Given the description of an element on the screen output the (x, y) to click on. 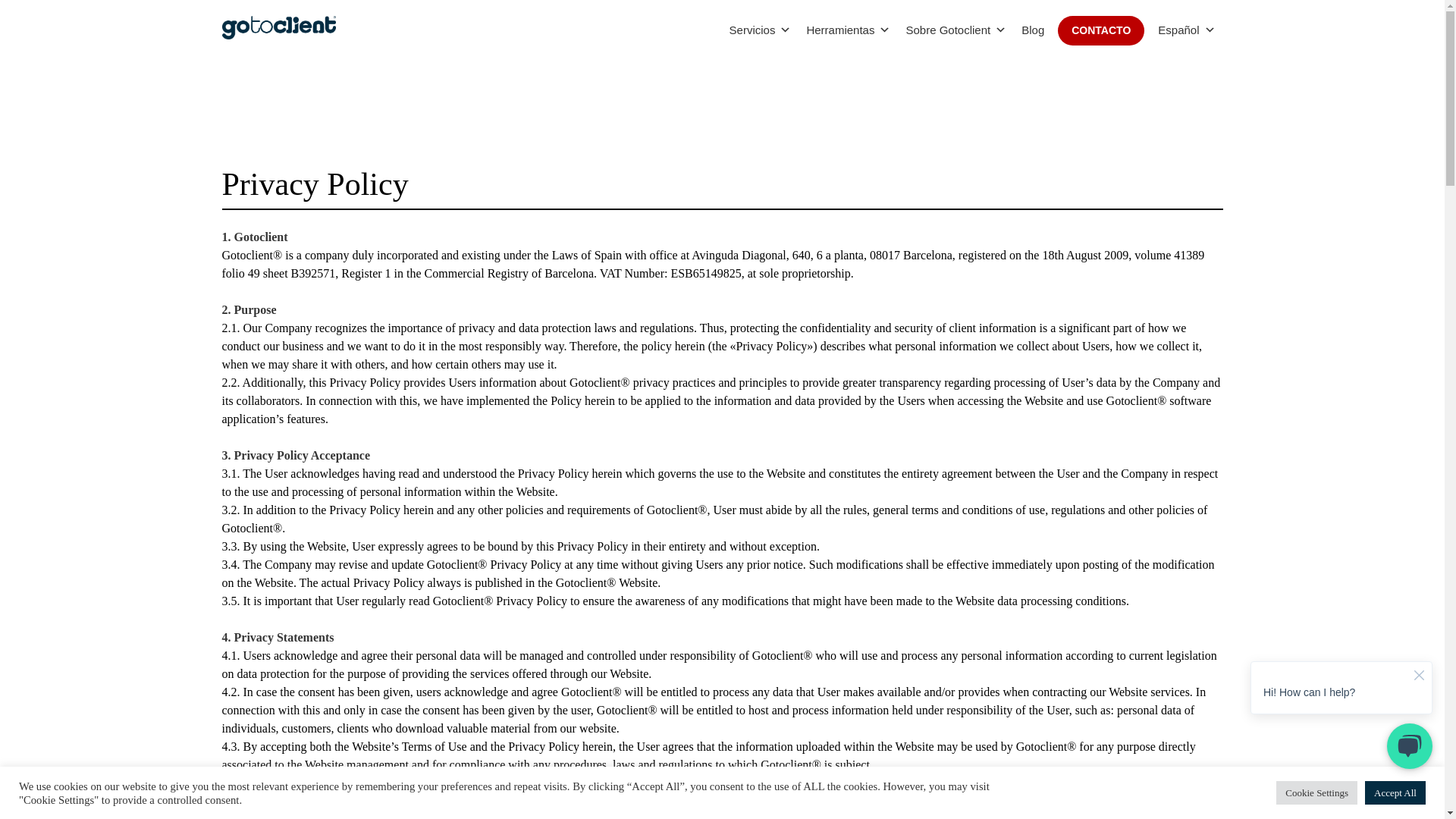
Servicios (760, 30)
Herramientas (847, 30)
